Given the description of an element on the screen output the (x, y) to click on. 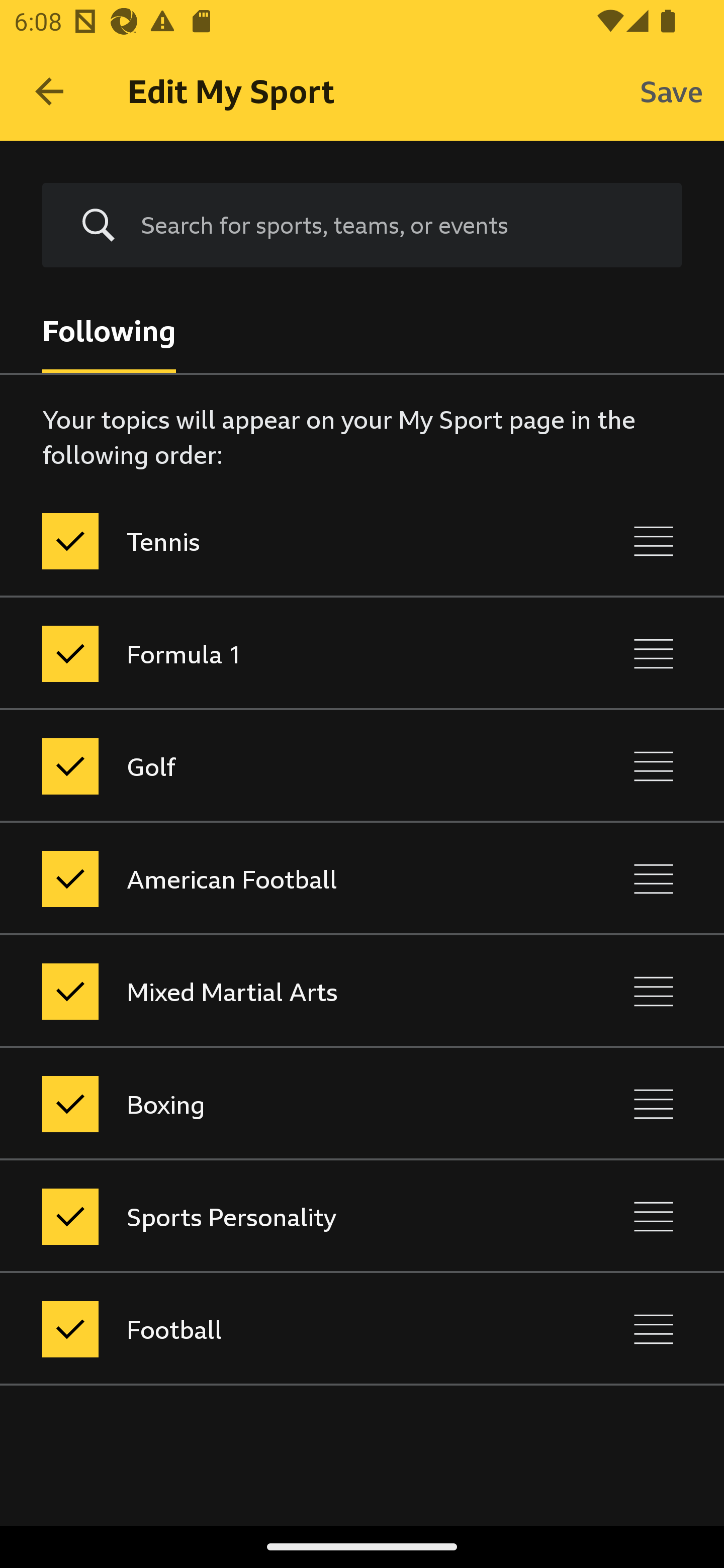
Navigate up (49, 91)
Save (671, 90)
Search for sports, teams, or events (361, 225)
Search for sports, teams, or events (396, 224)
Tennis (277, 540)
Reorder Tennis (653, 540)
Formula 1 (277, 653)
Reorder Formula 1 (653, 653)
Golf (277, 766)
Reorder Golf (653, 766)
American Football (277, 878)
Reorder American Football (653, 878)
Mixed Martial Arts (277, 990)
Reorder Mixed Martial Arts (653, 990)
Boxing (277, 1103)
Reorder Boxing (653, 1103)
Sports Personality (277, 1216)
Reorder Sports Personality (653, 1216)
Football (277, 1329)
Reorder Football (653, 1329)
